Given the description of an element on the screen output the (x, y) to click on. 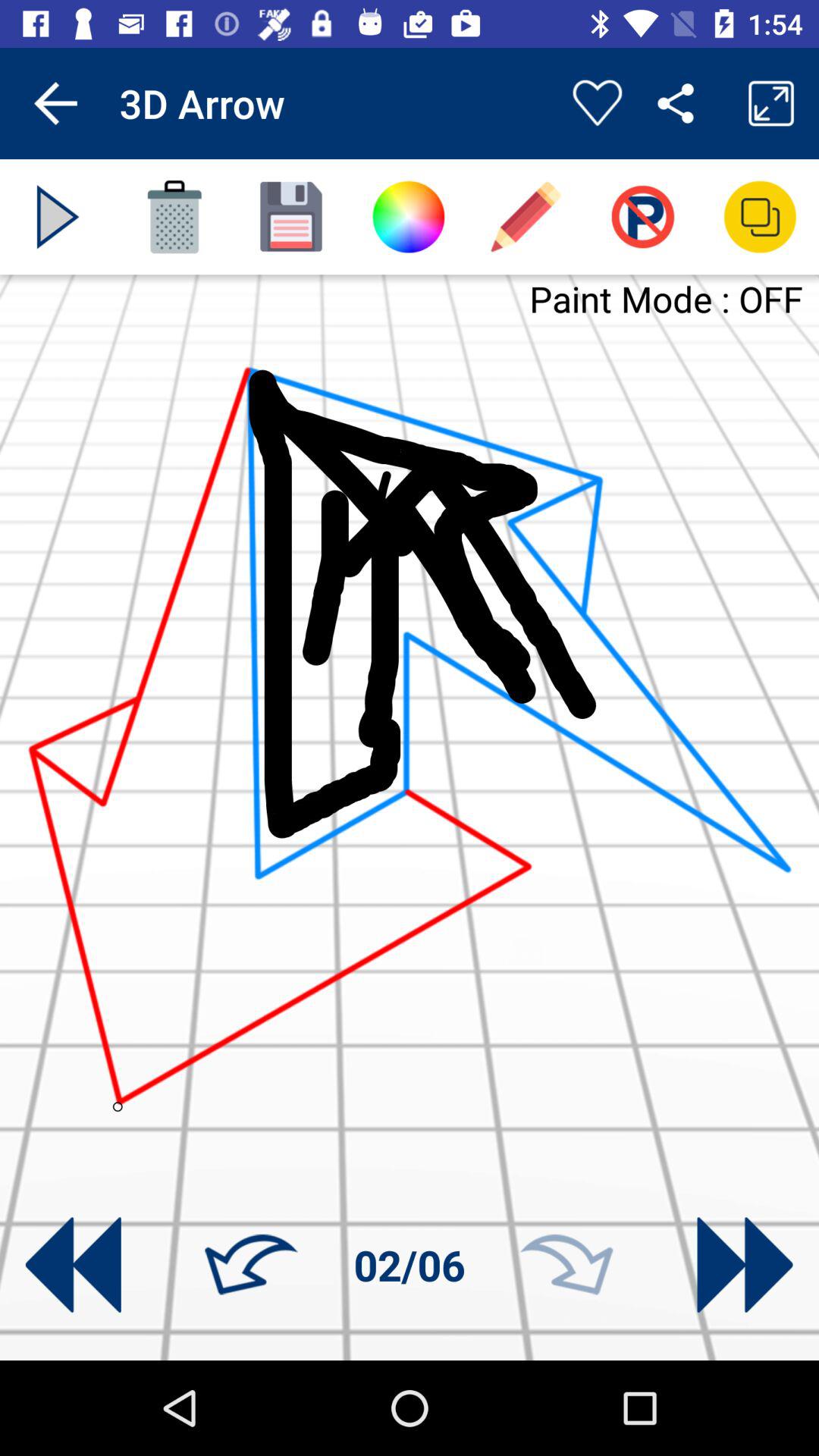
create new layer (759, 216)
